Given the description of an element on the screen output the (x, y) to click on. 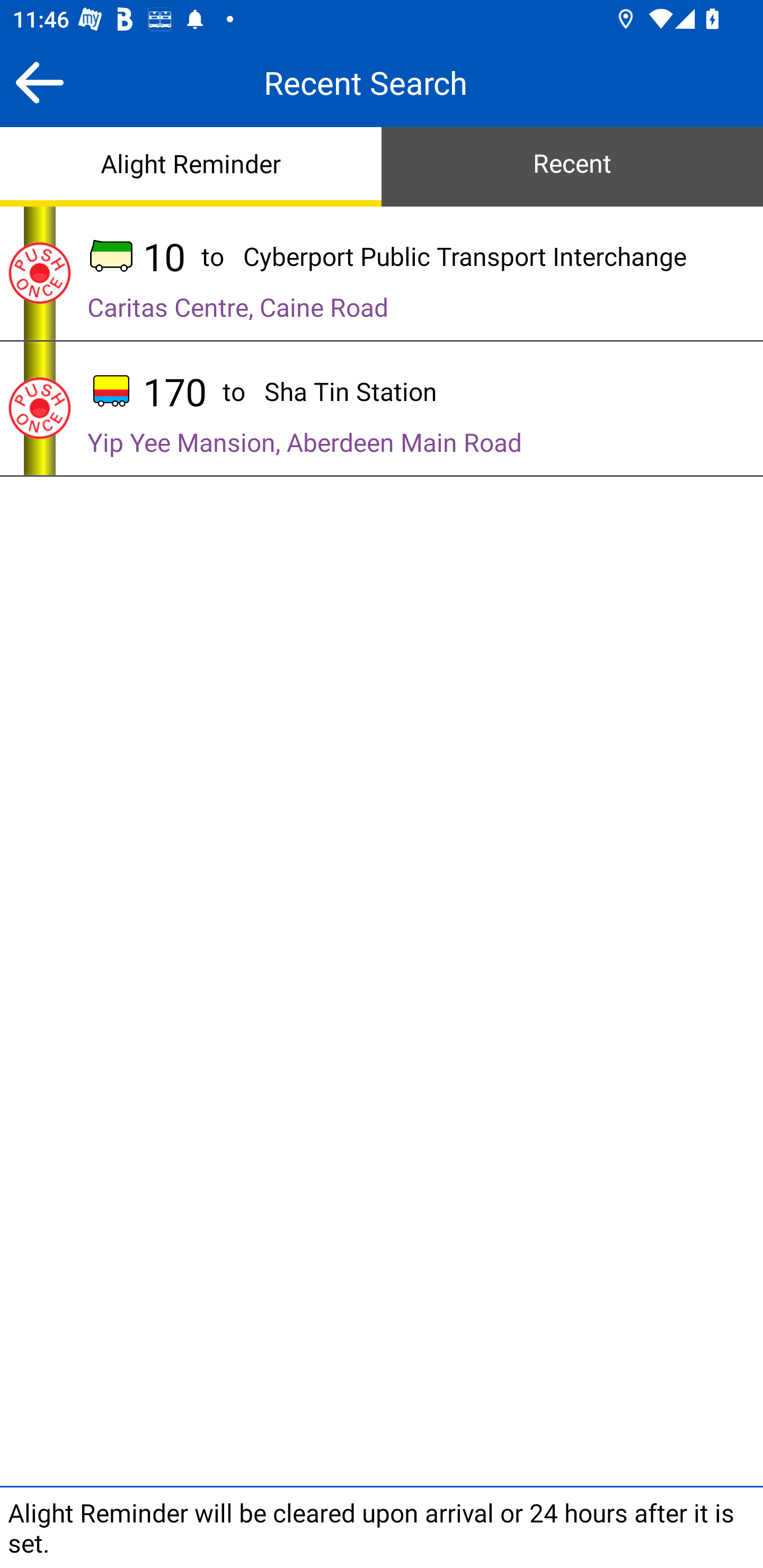
Back (39, 82)
Alight Reminder selected (190, 165)
Recent (572, 165)
